Given the description of an element on the screen output the (x, y) to click on. 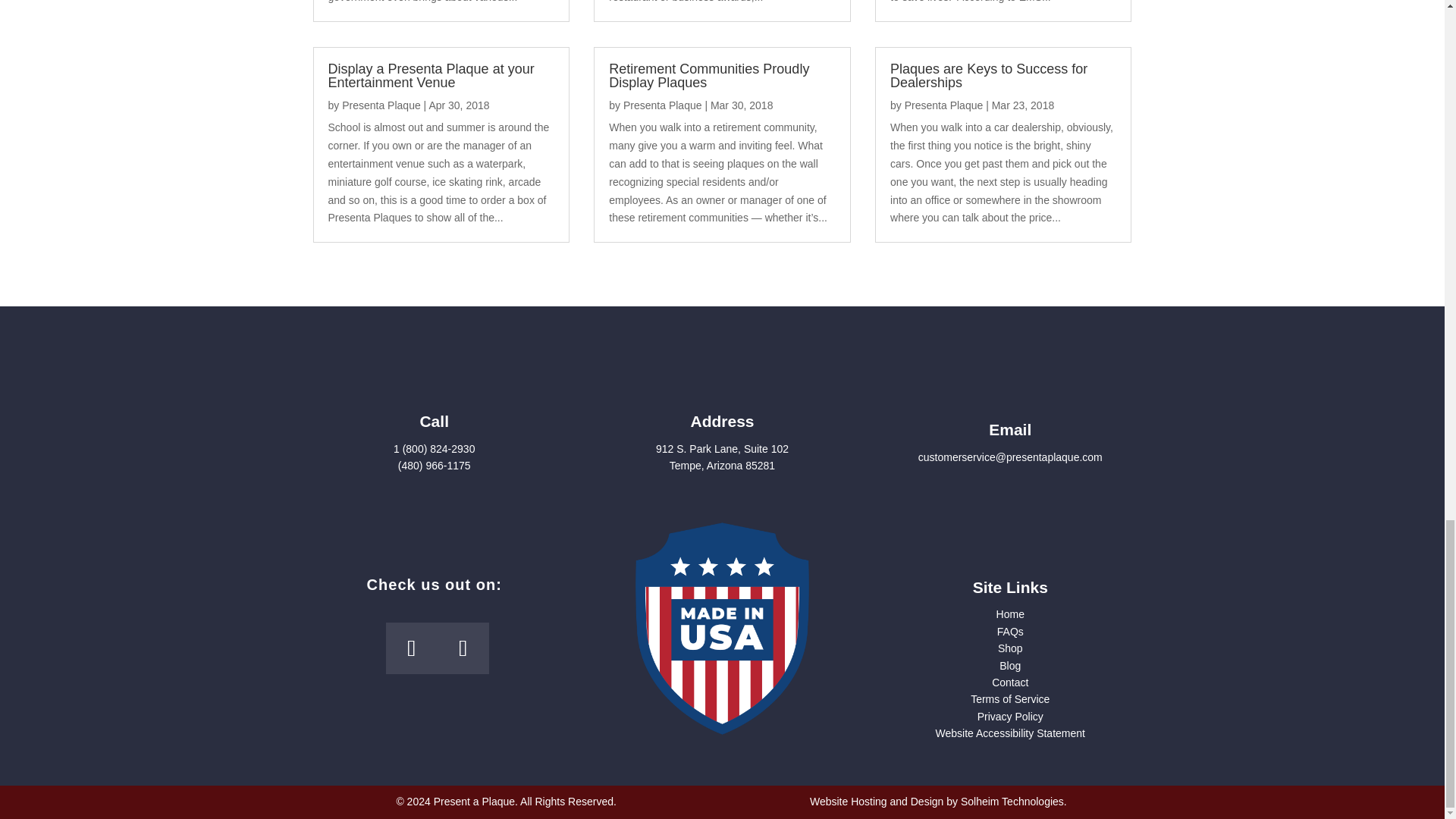
Follow on Facebook (411, 648)
WordPress Website Design and Hosting (1012, 801)
Display a Presenta Plaque at your Entertainment Venue (430, 75)
Retirement Communities Proudly Display Plaques (708, 75)
Made in the USA Shield (721, 628)
Posts by Presenta Plaque (944, 105)
Posts by Presenta Plaque (662, 105)
Follow on X (463, 648)
Presenta Plaque (381, 105)
Presenta Plaque (662, 105)
